Given the description of an element on the screen output the (x, y) to click on. 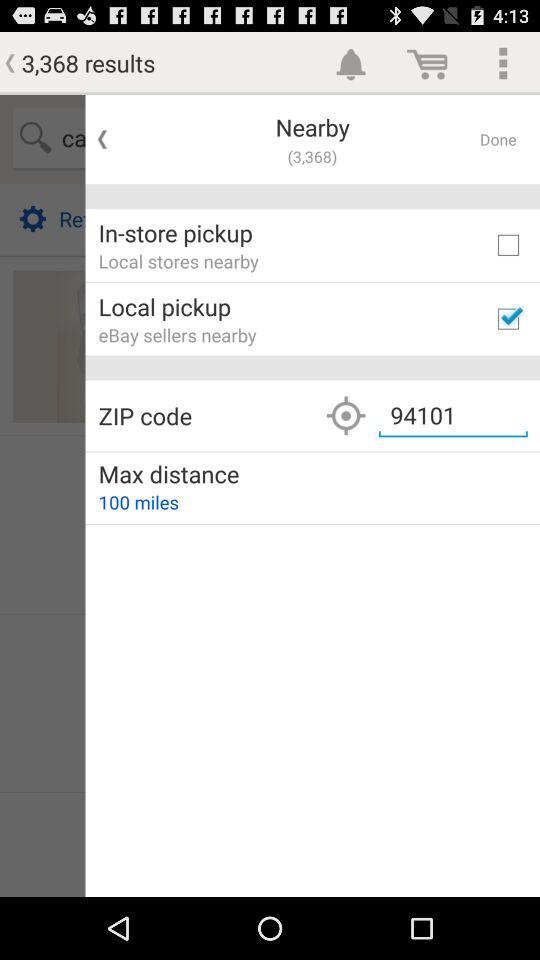
click on bell icon (351, 63)
